Given the description of an element on the screen output the (x, y) to click on. 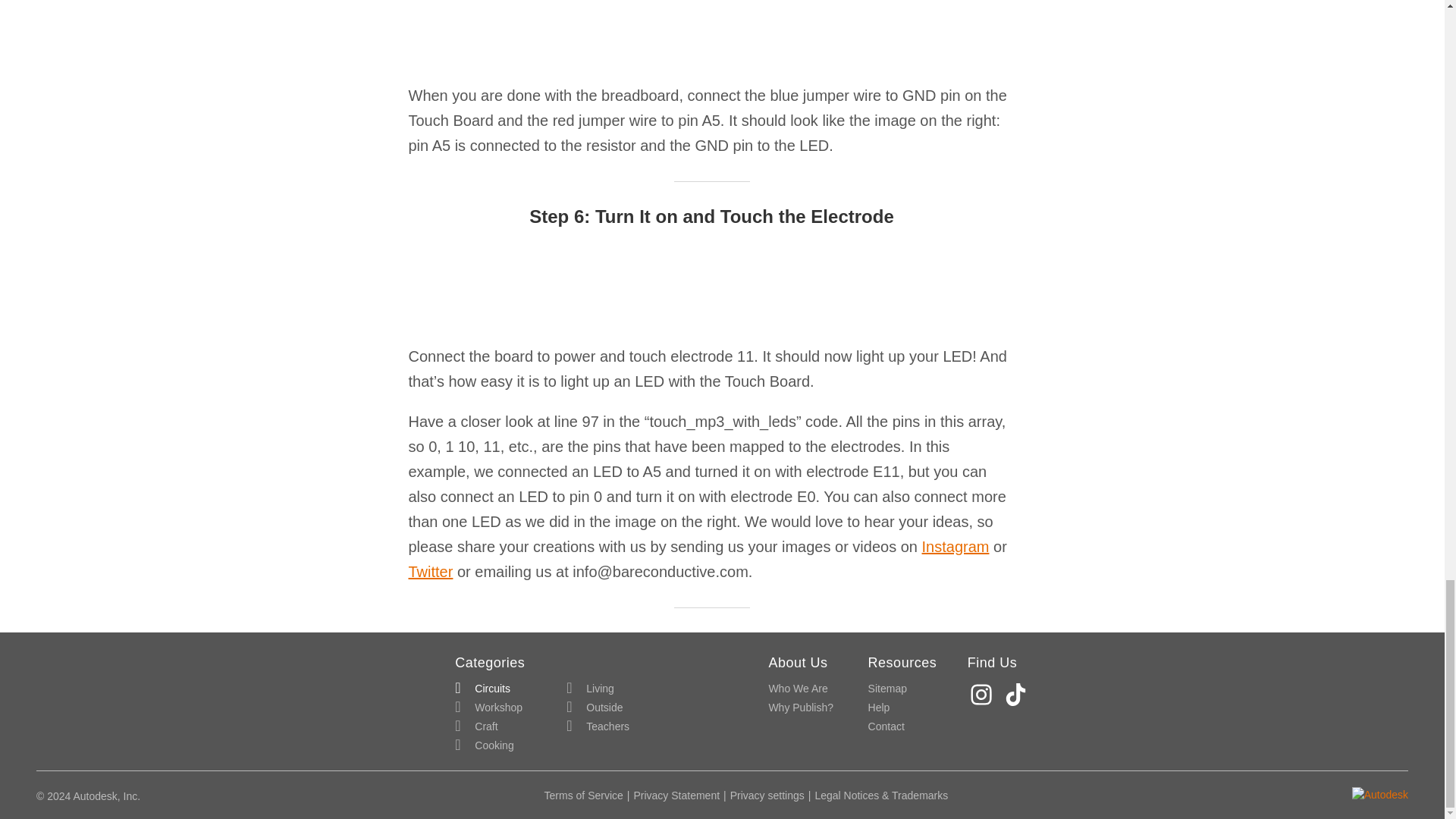
Why Publish? (800, 707)
Workshop (488, 707)
Craft (475, 726)
Teachers (597, 726)
Sitemap (887, 688)
Twitter (429, 571)
Who We Are (797, 688)
Circuits (482, 688)
Cooking (483, 745)
Privacy Statement (676, 795)
